Given the description of an element on the screen output the (x, y) to click on. 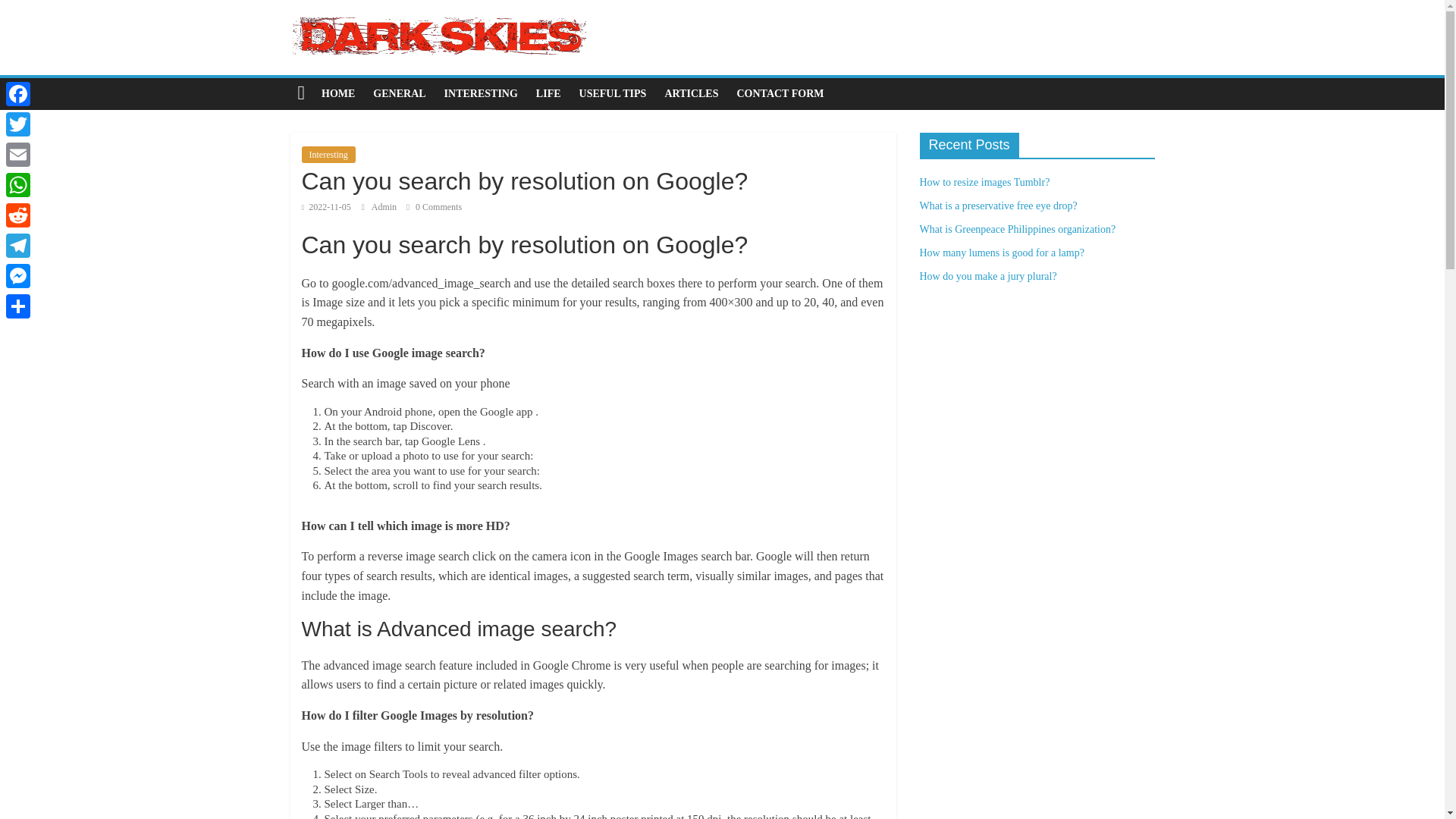
INTERESTING (481, 92)
CONTACT FORM (779, 92)
Admin (384, 206)
0 Comments (433, 206)
HOME (338, 92)
Telegram (17, 245)
WhatsApp (17, 184)
Interesting (328, 154)
Reddit (17, 214)
Email (17, 154)
How do you make a jury plural? (987, 276)
Email (17, 154)
2022-11-05 (325, 206)
ARTICLES (690, 92)
Facebook (17, 93)
